Given the description of an element on the screen output the (x, y) to click on. 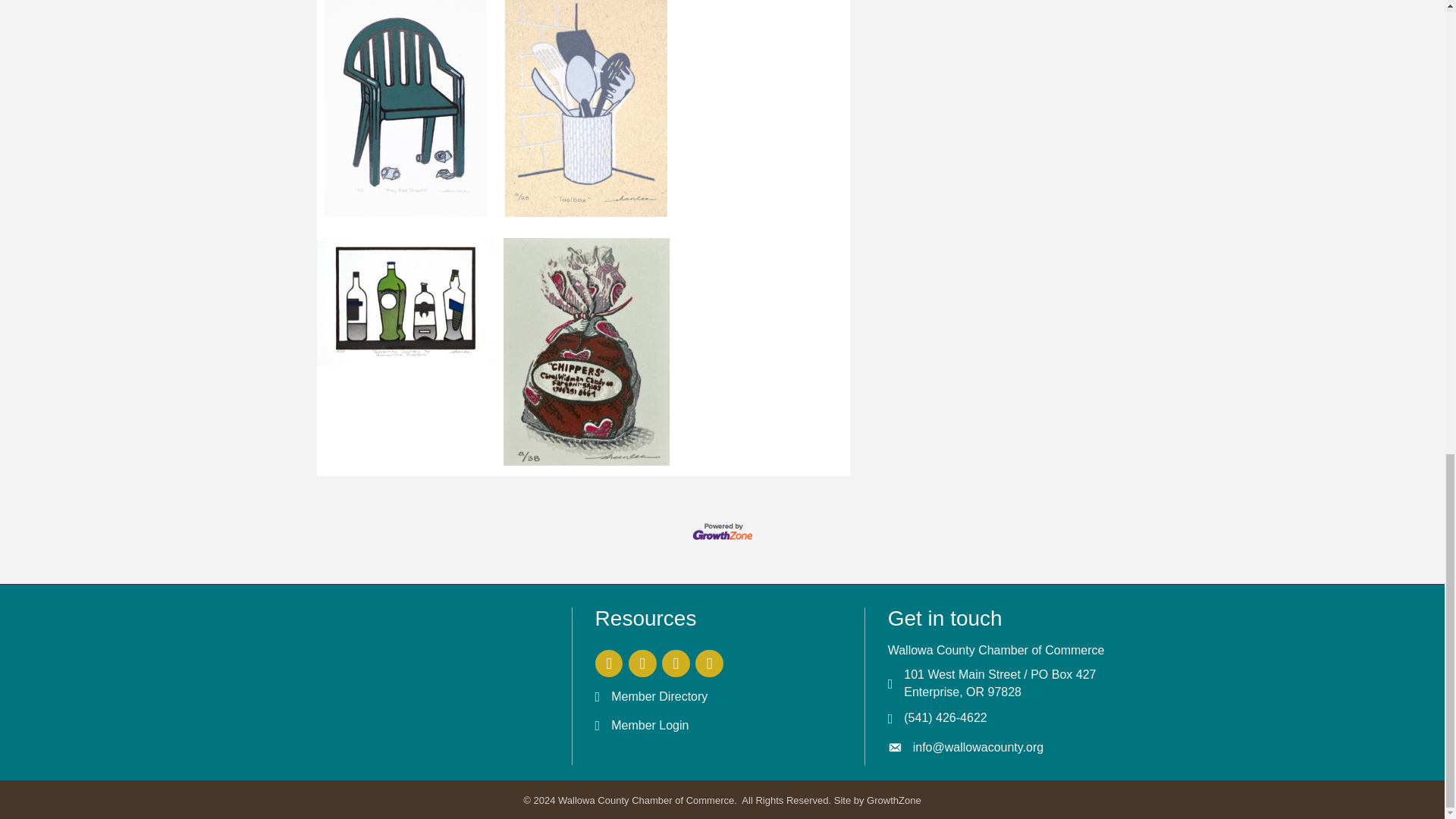
wccc-primary-chamber-white-h190 (402, 684)
